Given the description of an element on the screen output the (x, y) to click on. 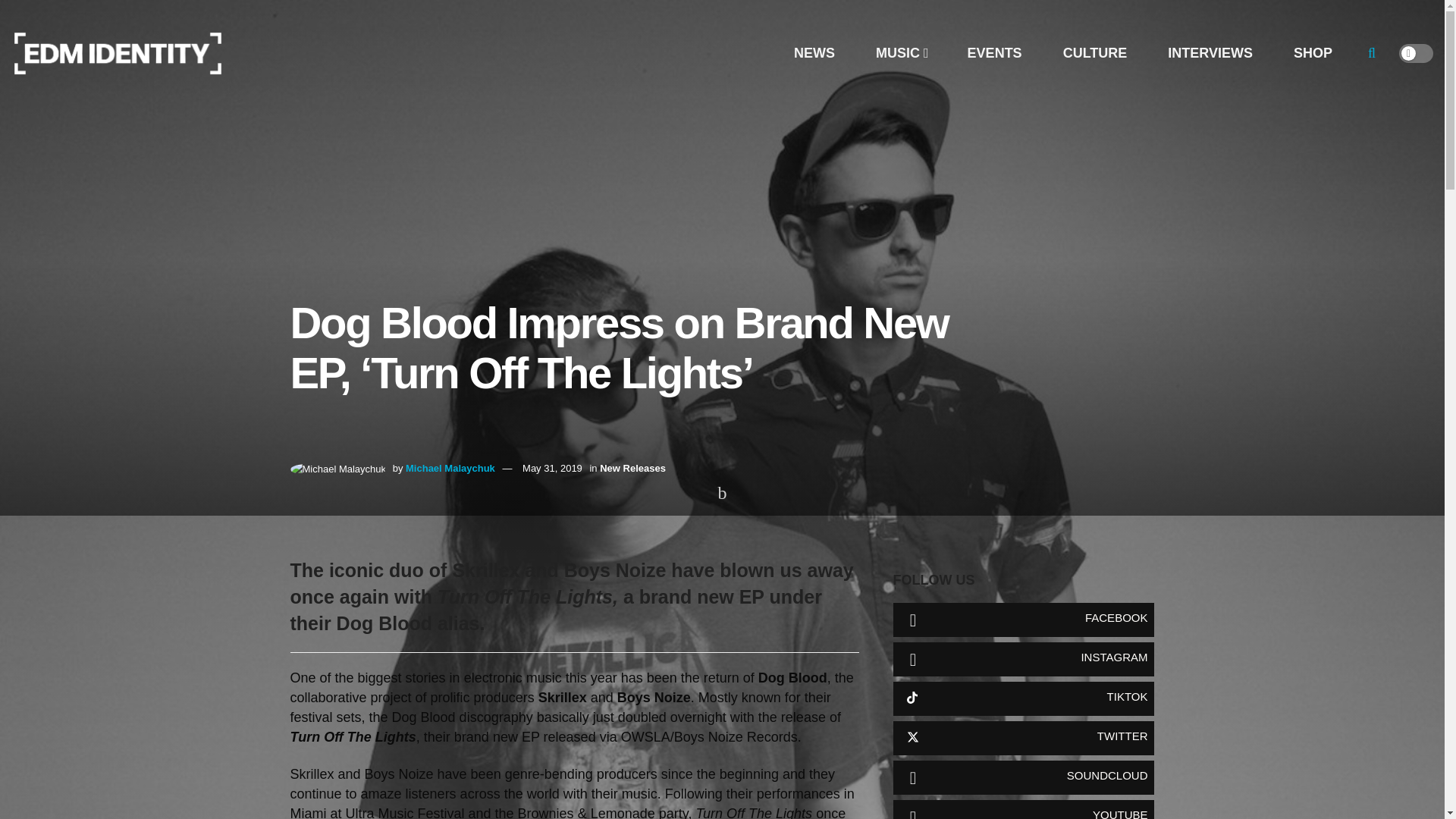
MUSIC (901, 53)
SHOP (1312, 53)
CULTURE (1095, 53)
May 31, 2019 (552, 468)
Michael Malaychuk (450, 468)
New Releases (632, 468)
EVENTS (994, 53)
NEWS (814, 53)
INTERVIEWS (1210, 53)
